Given the description of an element on the screen output the (x, y) to click on. 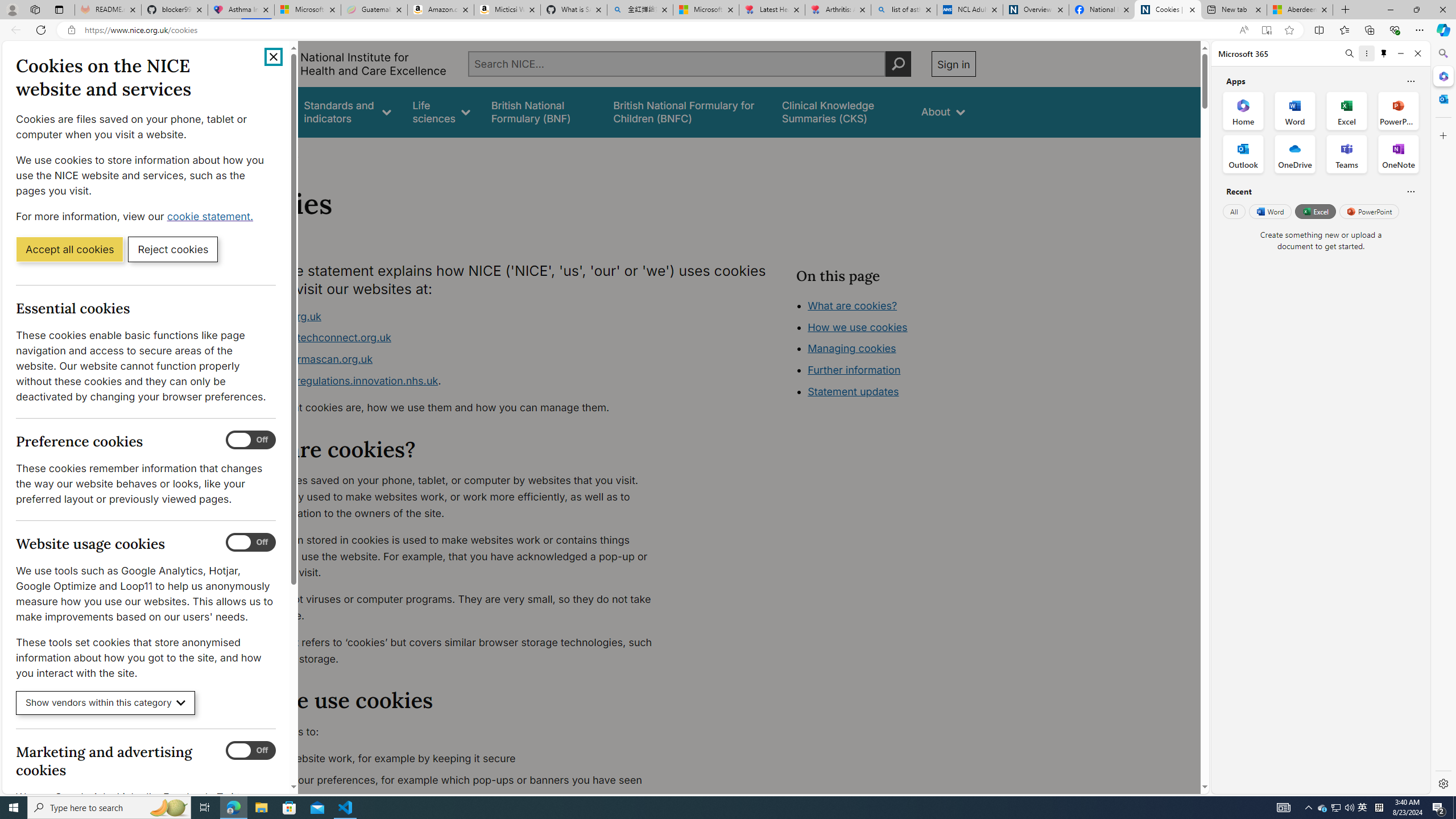
Managing cookies (852, 348)
www.healthtechconnect.org.uk (452, 338)
www.digitalregulations.innovation.nhs.uk (338, 380)
OneDrive Office App (1295, 154)
Statement updates (853, 391)
